Given the description of an element on the screen output the (x, y) to click on. 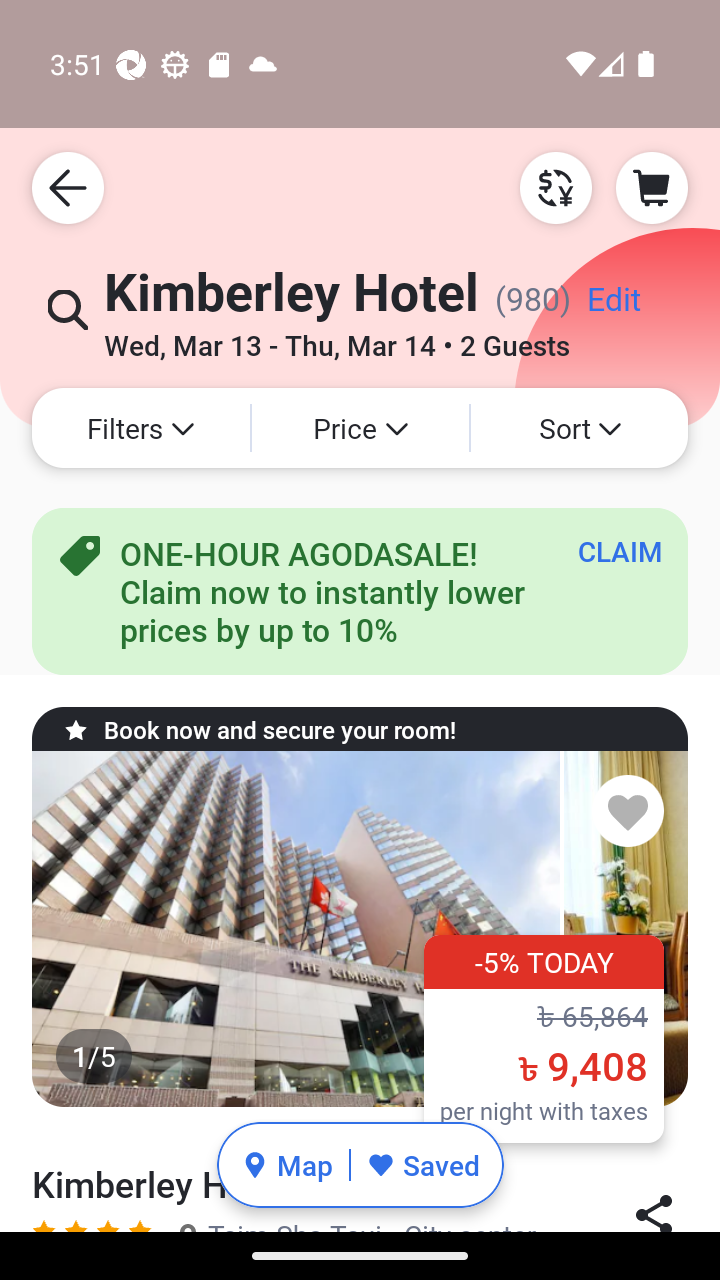
Edit (613, 306)
Filters (140, 428)
Price (359, 428)
Sort (579, 428)
CLAIM (620, 551)
1/5 (359, 929)
-5% TODAY ‪৳ 65,864 ‪৳ 9,408 per night with taxes (543, 1038)
Map Saved (359, 1165)
